Given the description of an element on the screen output the (x, y) to click on. 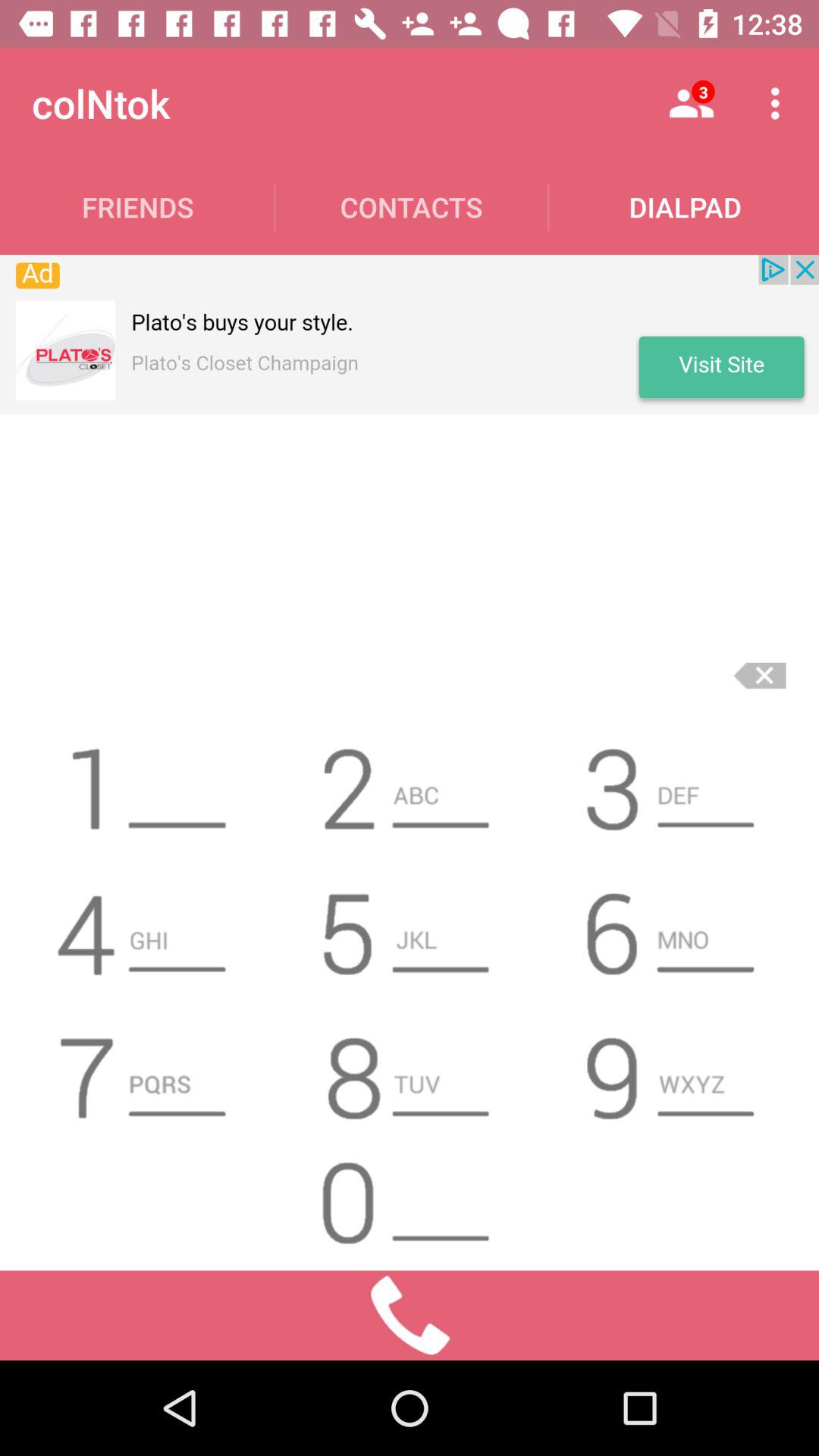
click on 1  icon (145, 782)
click on 2  icon (409, 782)
click on 8  icon (409, 1071)
click on contacts left to dialpad (411, 206)
